Given the description of an element on the screen output the (x, y) to click on. 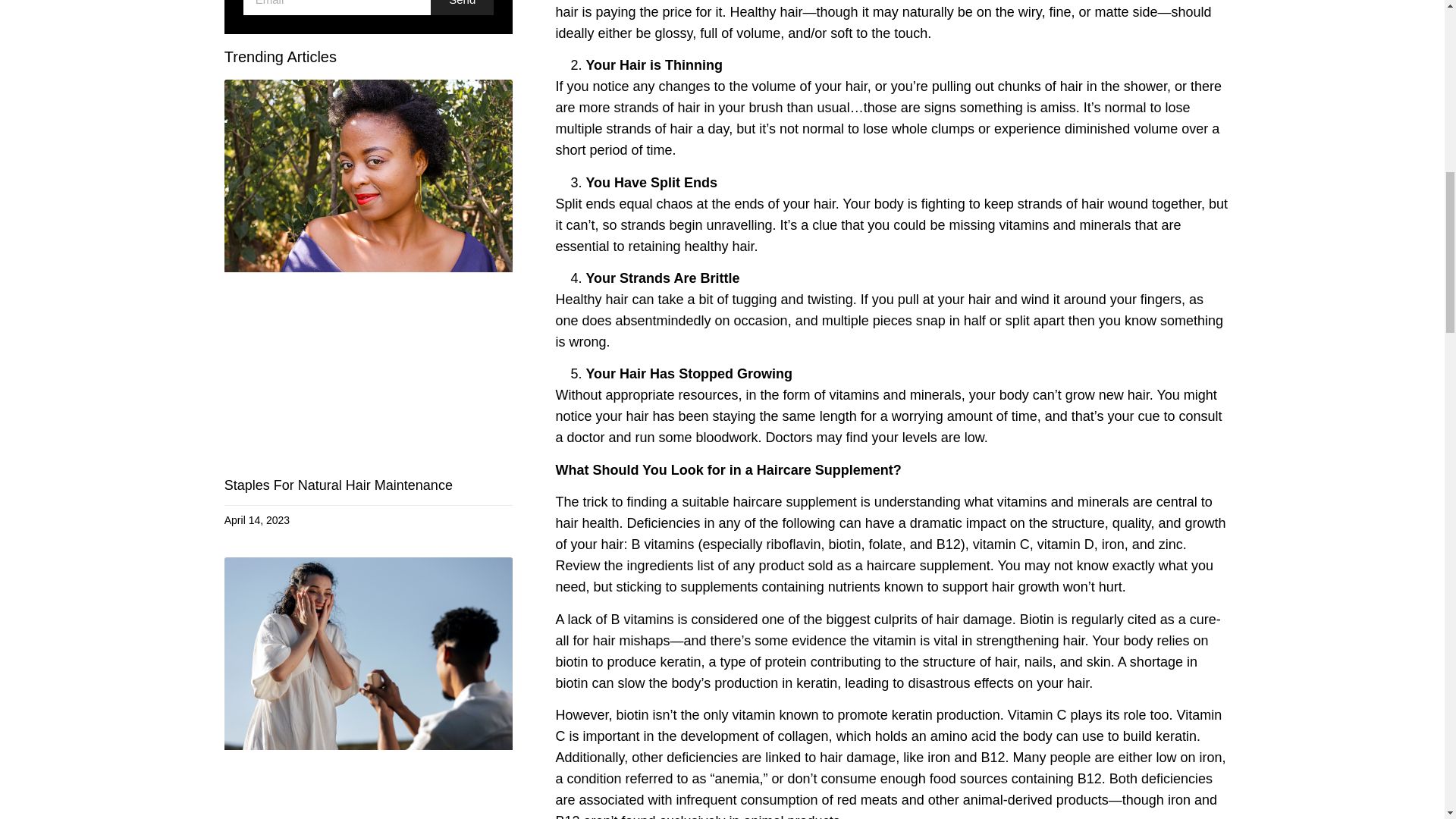
Send (461, 7)
Staples For Natural Hair Maintenance (338, 485)
